Given the description of an element on the screen output the (x, y) to click on. 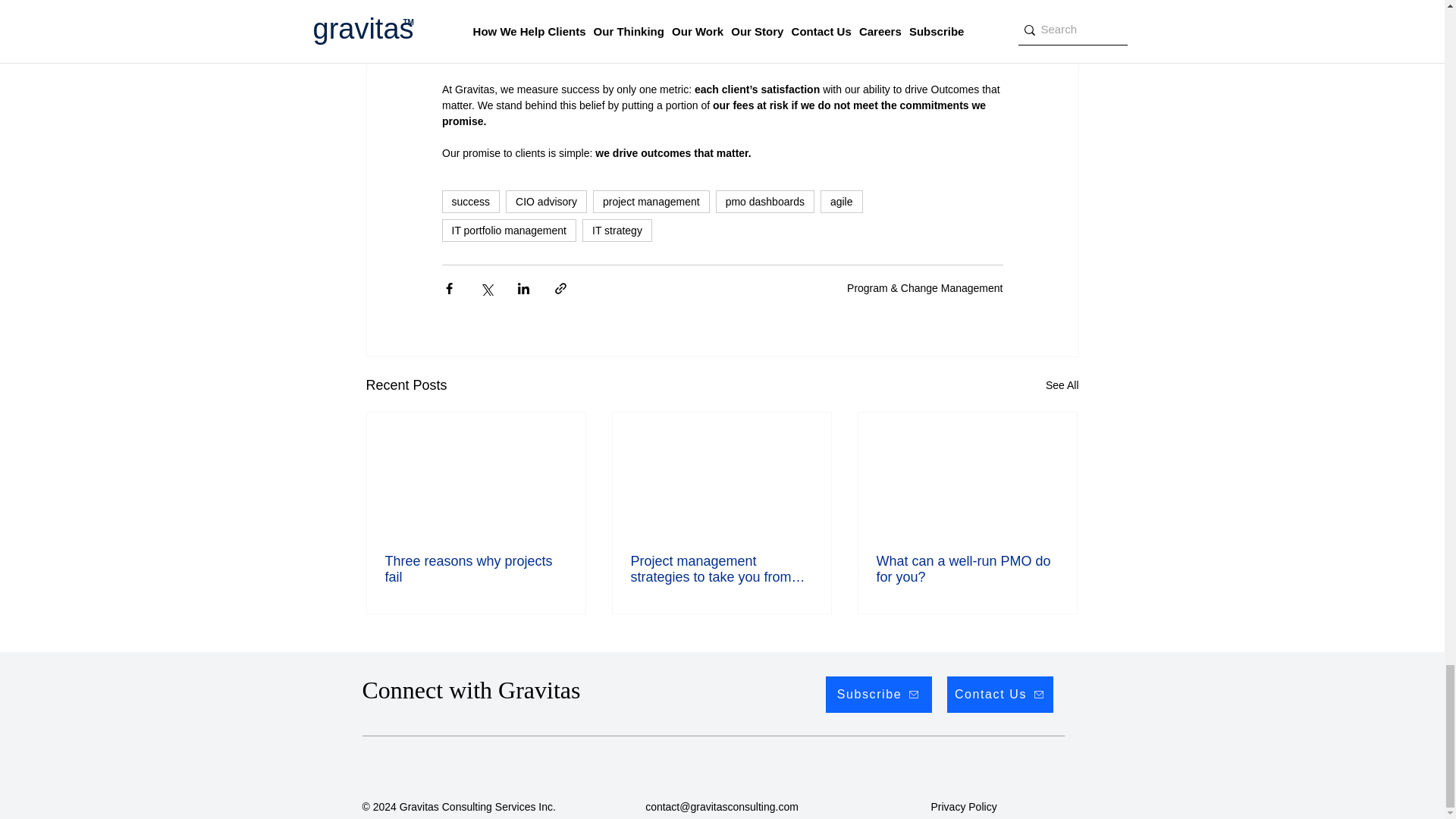
agile (842, 201)
success (470, 201)
CIO advisory (545, 201)
pmo dashboards (764, 201)
project management (651, 201)
IT strategy (617, 230)
IT portfolio management (508, 230)
